Given the description of an element on the screen output the (x, y) to click on. 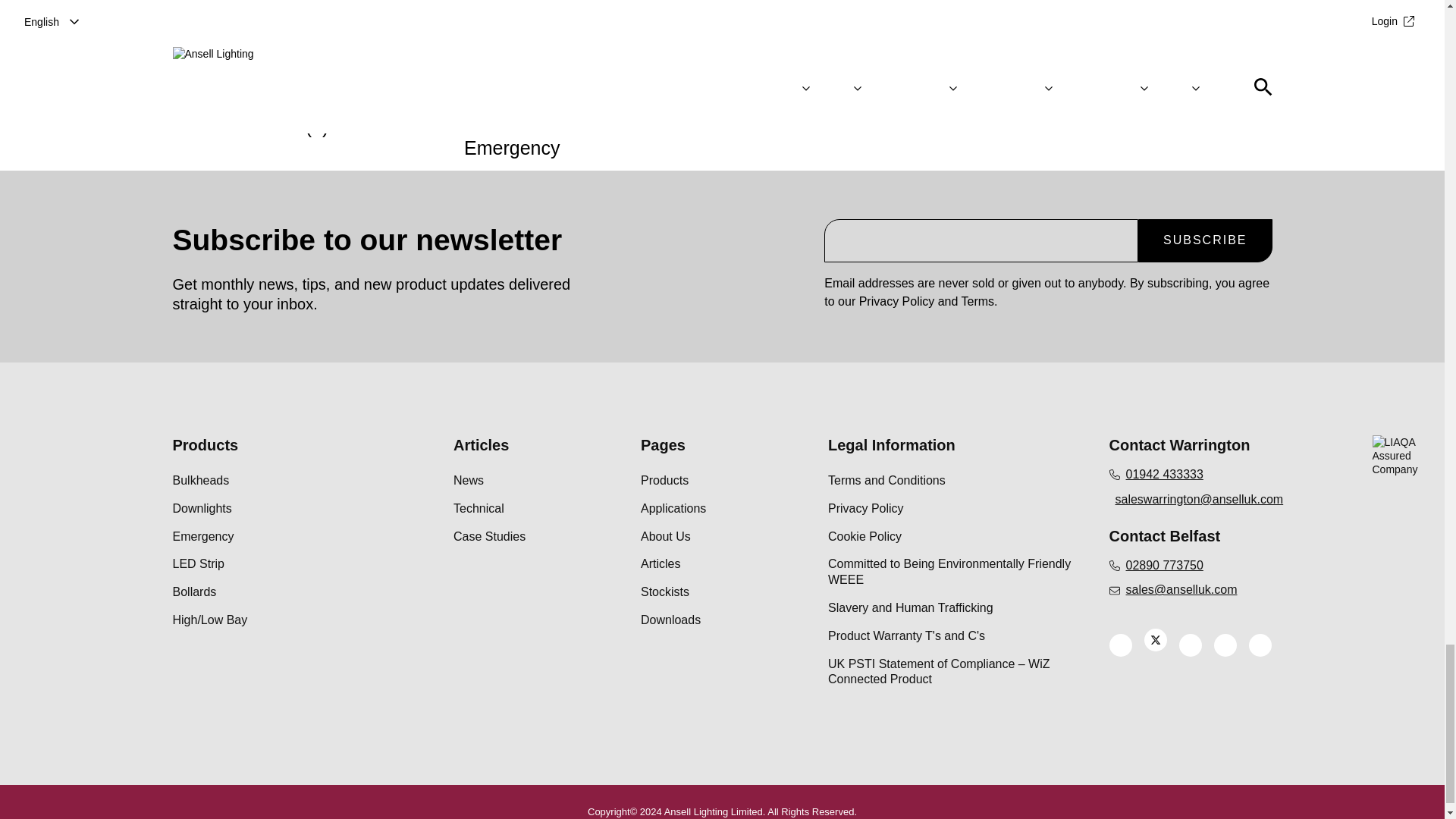
Panel Pod Self-Test Emergency (582, 85)
02890 773750 (1189, 565)
Panel Pod Sensor (861, 74)
01942 433333 (1189, 474)
Subscribe (1204, 240)
